Given the description of an element on the screen output the (x, y) to click on. 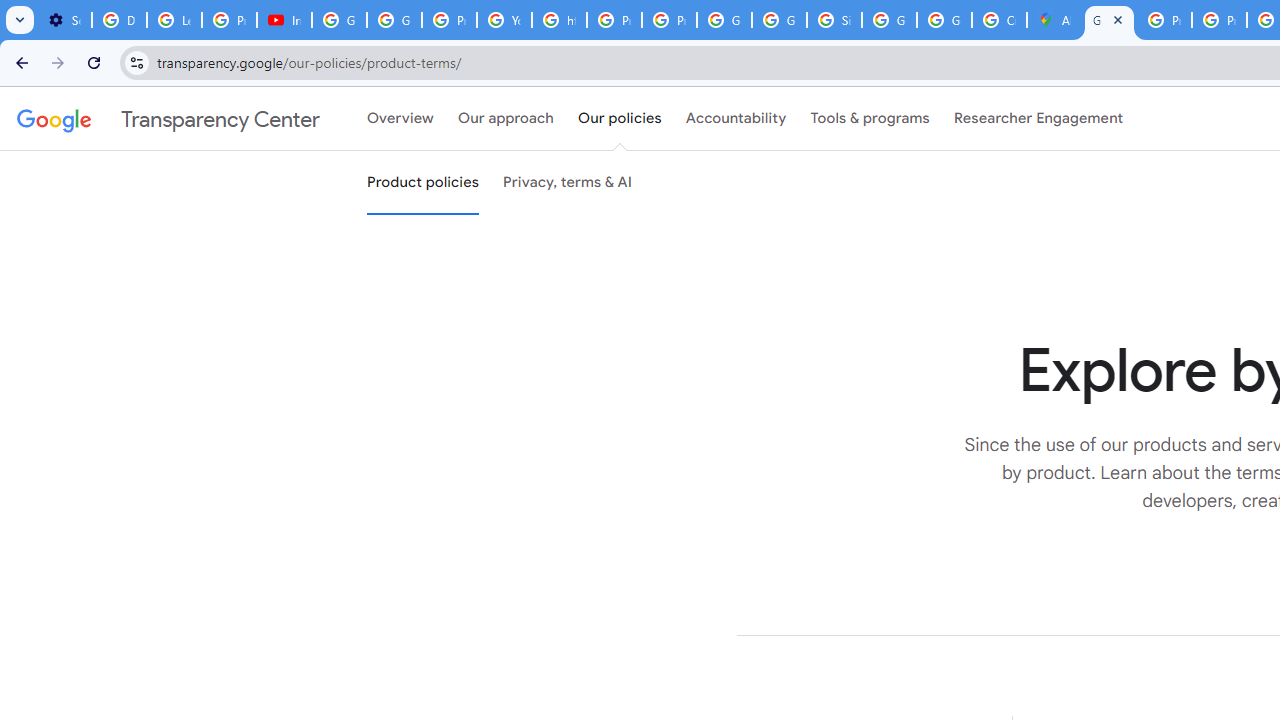
Privacy Help Center - Policies Help (1163, 20)
Privacy Help Center - Policies Help (1218, 20)
Our approach (506, 119)
